Given the description of an element on the screen output the (x, y) to click on. 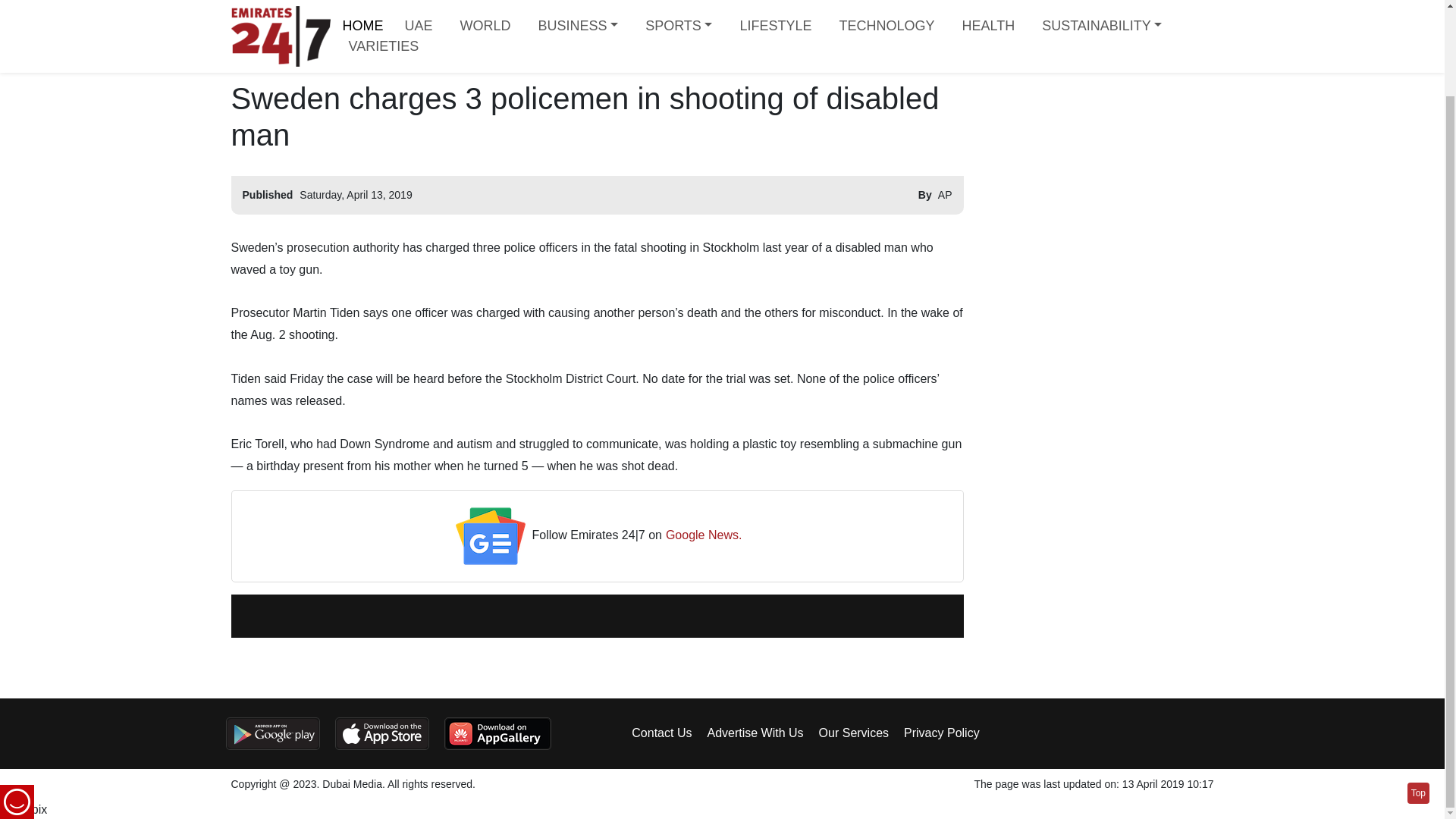
Go to top (1418, 694)
World (362, 18)
Google News. (703, 535)
Home (237, 18)
